Given the description of an element on the screen output the (x, y) to click on. 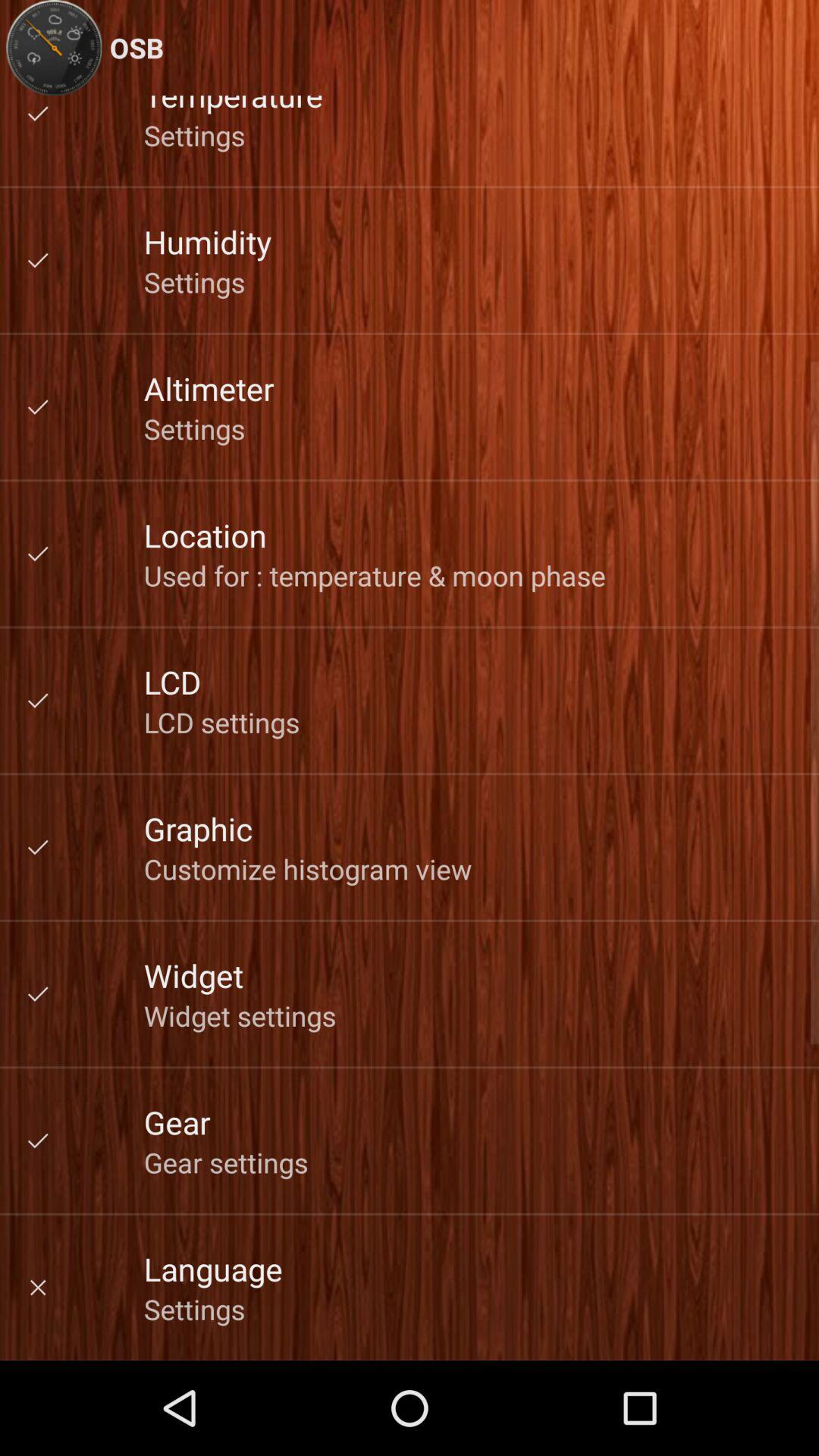
open item below the location icon (374, 575)
